Given the description of an element on the screen output the (x, y) to click on. 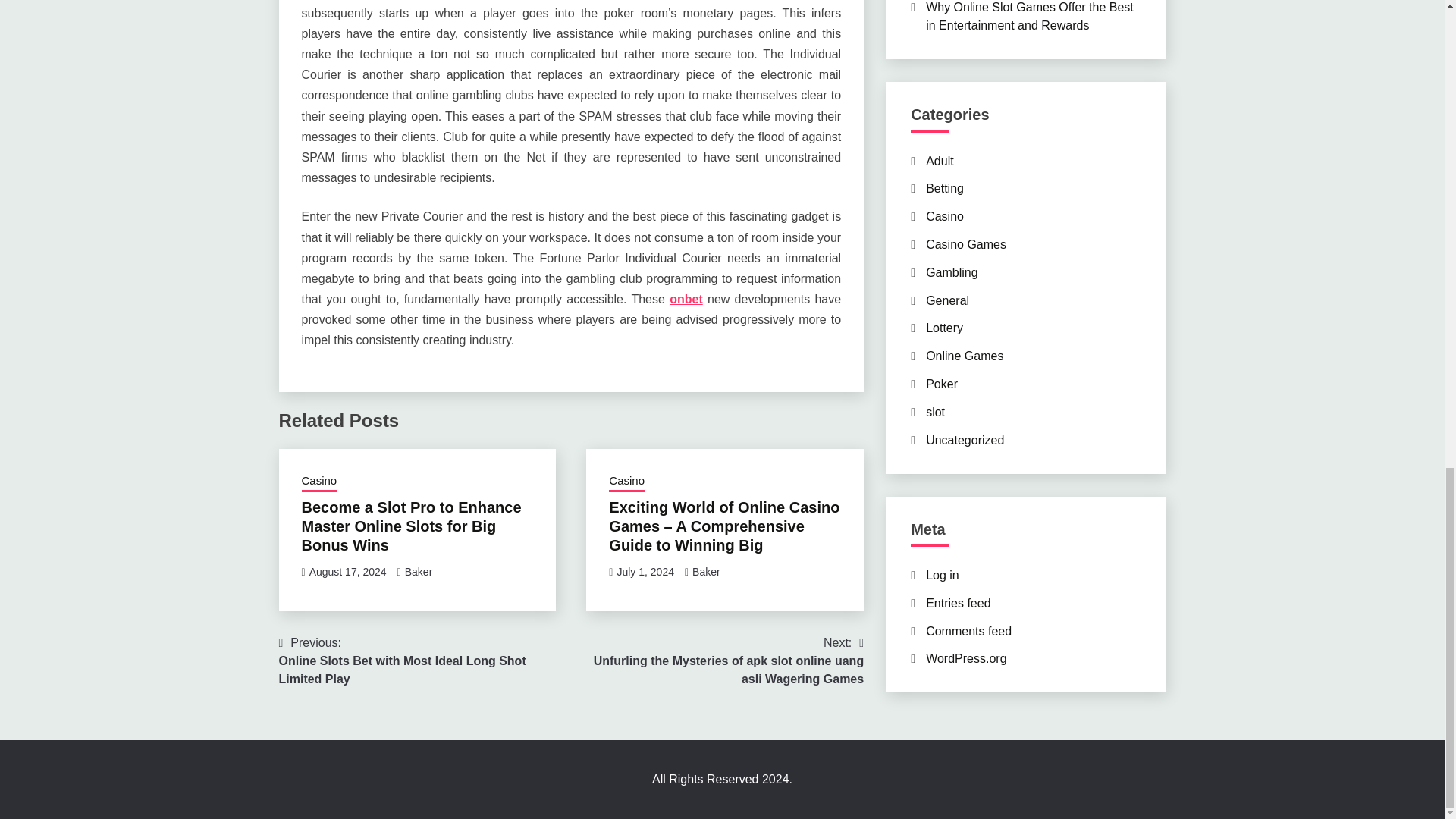
Baker (418, 571)
Adult (939, 160)
Betting (944, 187)
Casino (626, 482)
Gambling (951, 272)
Casino (944, 215)
July 1, 2024 (644, 571)
Casino Games (966, 244)
